Given the description of an element on the screen output the (x, y) to click on. 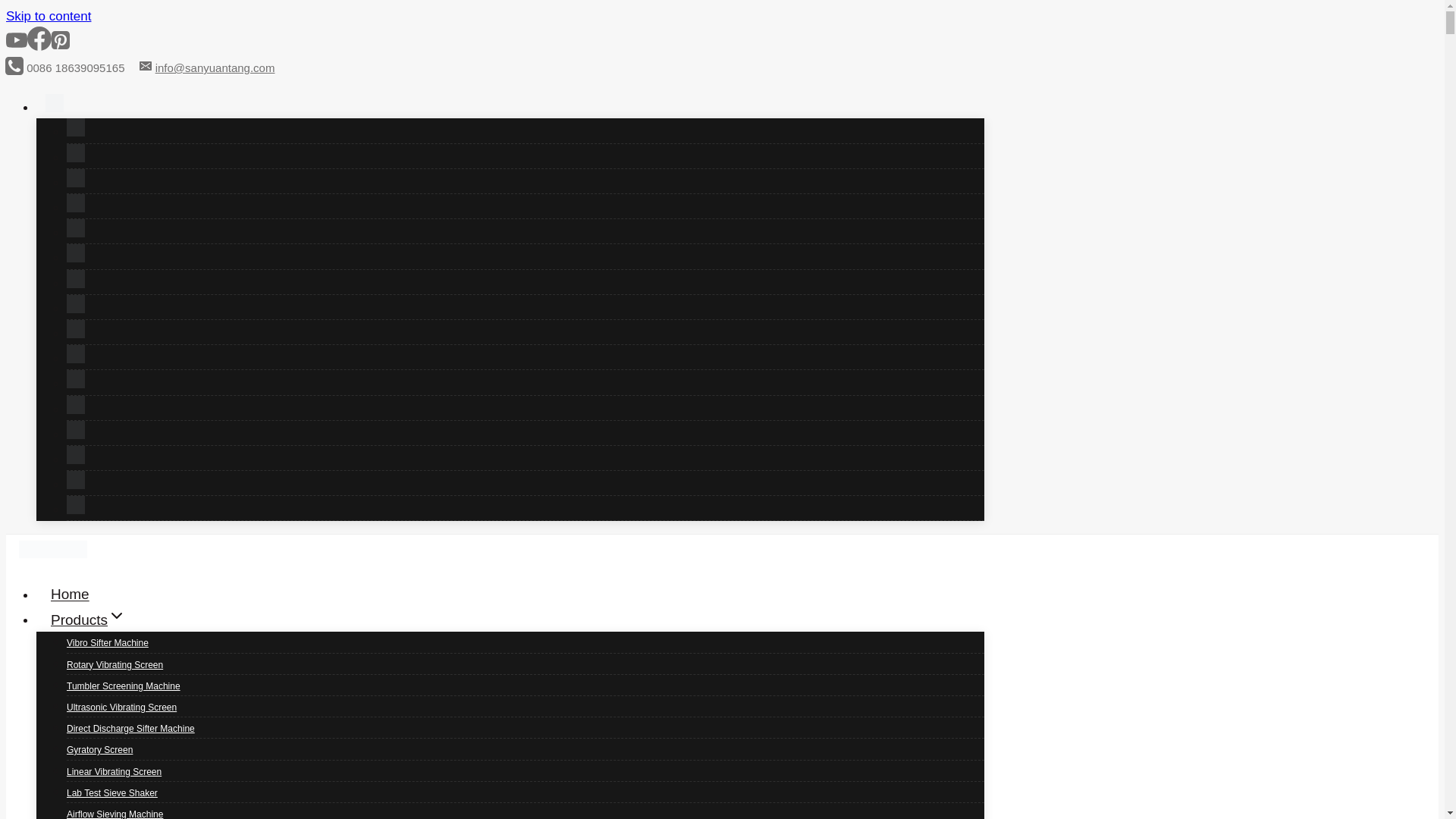
Pinterest (59, 46)
Linear Vibrating Screen (113, 771)
Skip to content (47, 16)
ProductsExpand (87, 620)
Tumbler Screening Machine (123, 686)
YouTube (16, 46)
Vibro Sifter Machine (107, 642)
Expand (116, 615)
Facebook (38, 46)
Airflow Sieving Machine (114, 809)
Email (145, 65)
YouTube (16, 39)
Lab Test Sieve Shaker (111, 792)
Rotary Vibrating Screen (114, 664)
Home (69, 594)
